Given the description of an element on the screen output the (x, y) to click on. 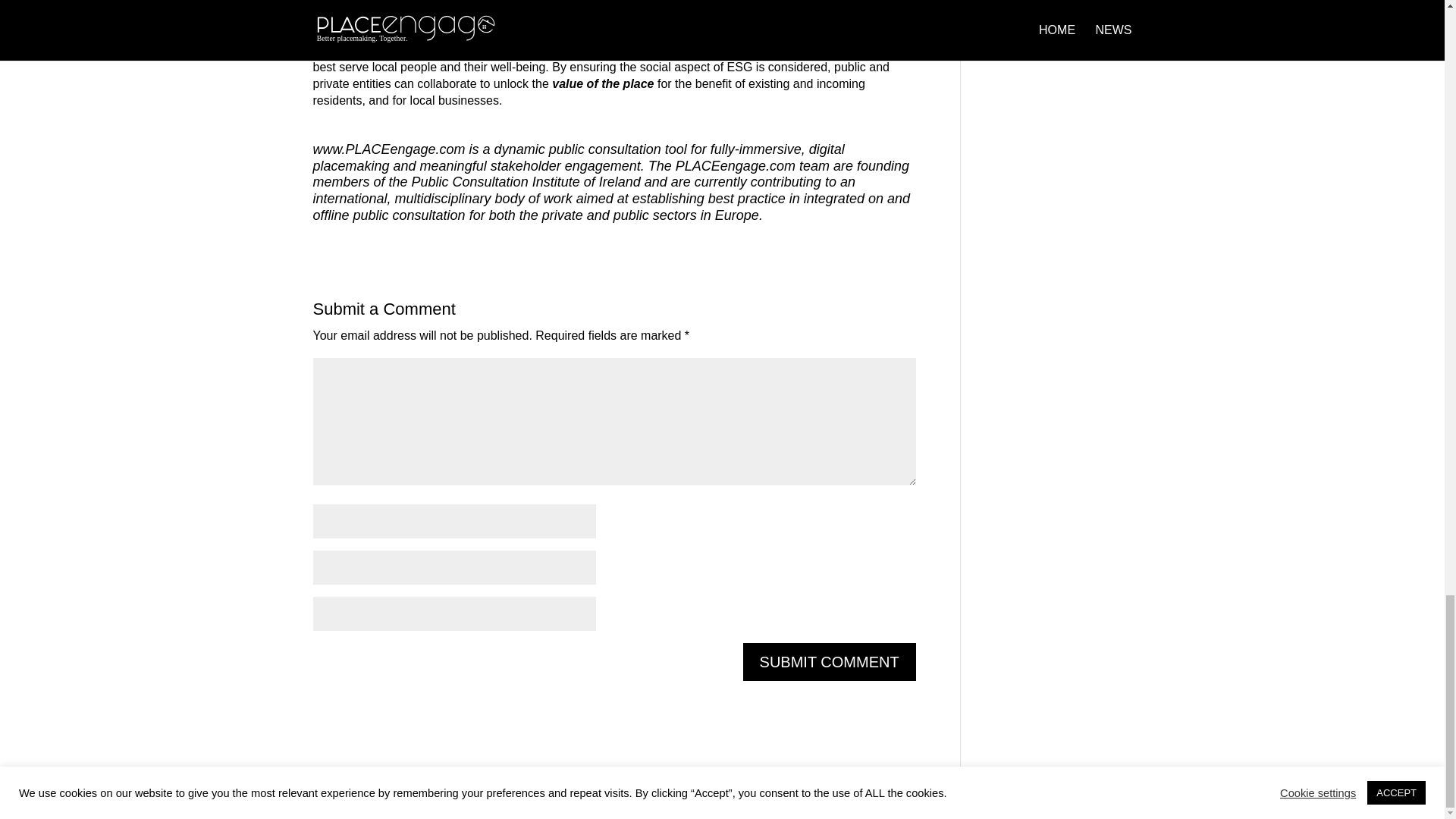
www.PLACEengage.com (388, 149)
Submit Comment (828, 661)
Submit Comment (828, 661)
